Given the description of an element on the screen output the (x, y) to click on. 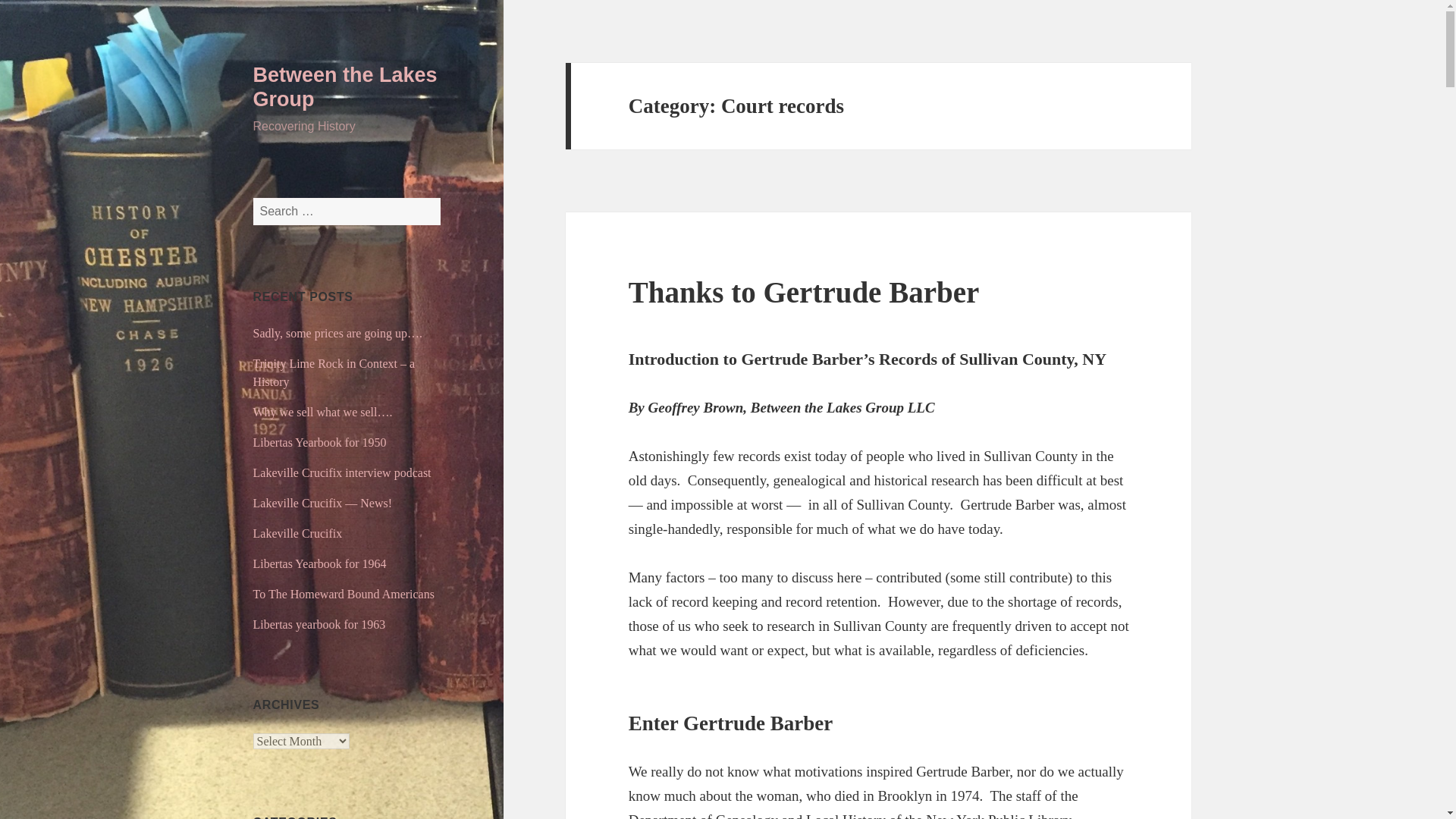
Libertas yearbook for 1963 (319, 624)
To The Homeward Bound Americans (343, 594)
Lakeville Crucifix (297, 533)
Between the Lakes Group (345, 86)
Lakeville Crucifix interview podcast (341, 472)
Libertas Yearbook for 1950 (320, 441)
Libertas Yearbook for 1964 (320, 563)
